Given the description of an element on the screen output the (x, y) to click on. 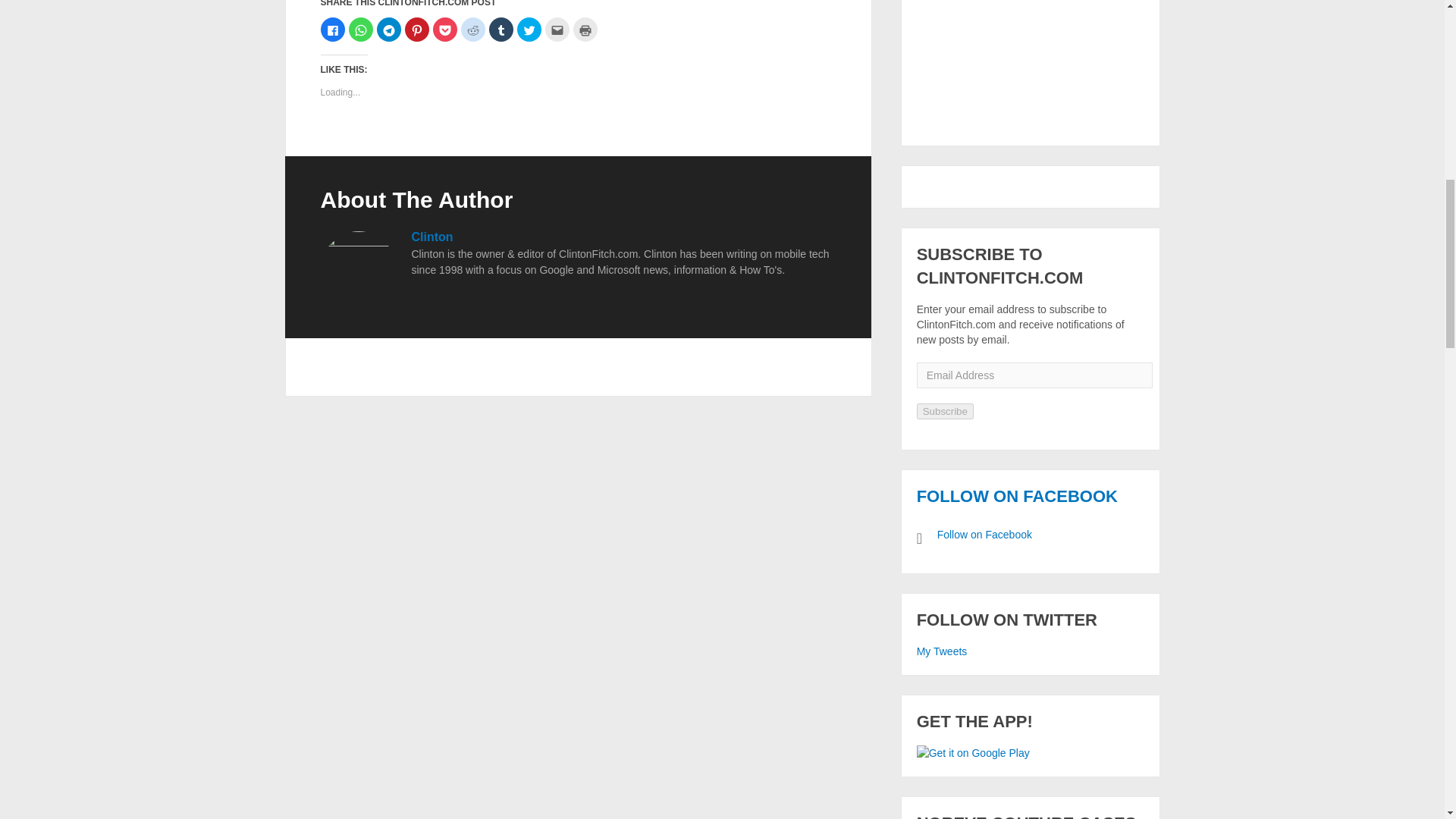
Click to share on Twitter (528, 29)
Click to print (584, 29)
Click to share on Facebook (331, 29)
Click to share on WhatsApp (360, 29)
Click to share on Reddit (472, 29)
Click to share on Pinterest (416, 29)
Click to email this to a friend (556, 29)
Click to share on Pocket (444, 29)
Click to share on Tumblr (499, 29)
Click to share on Telegram (387, 29)
